Given the description of an element on the screen output the (x, y) to click on. 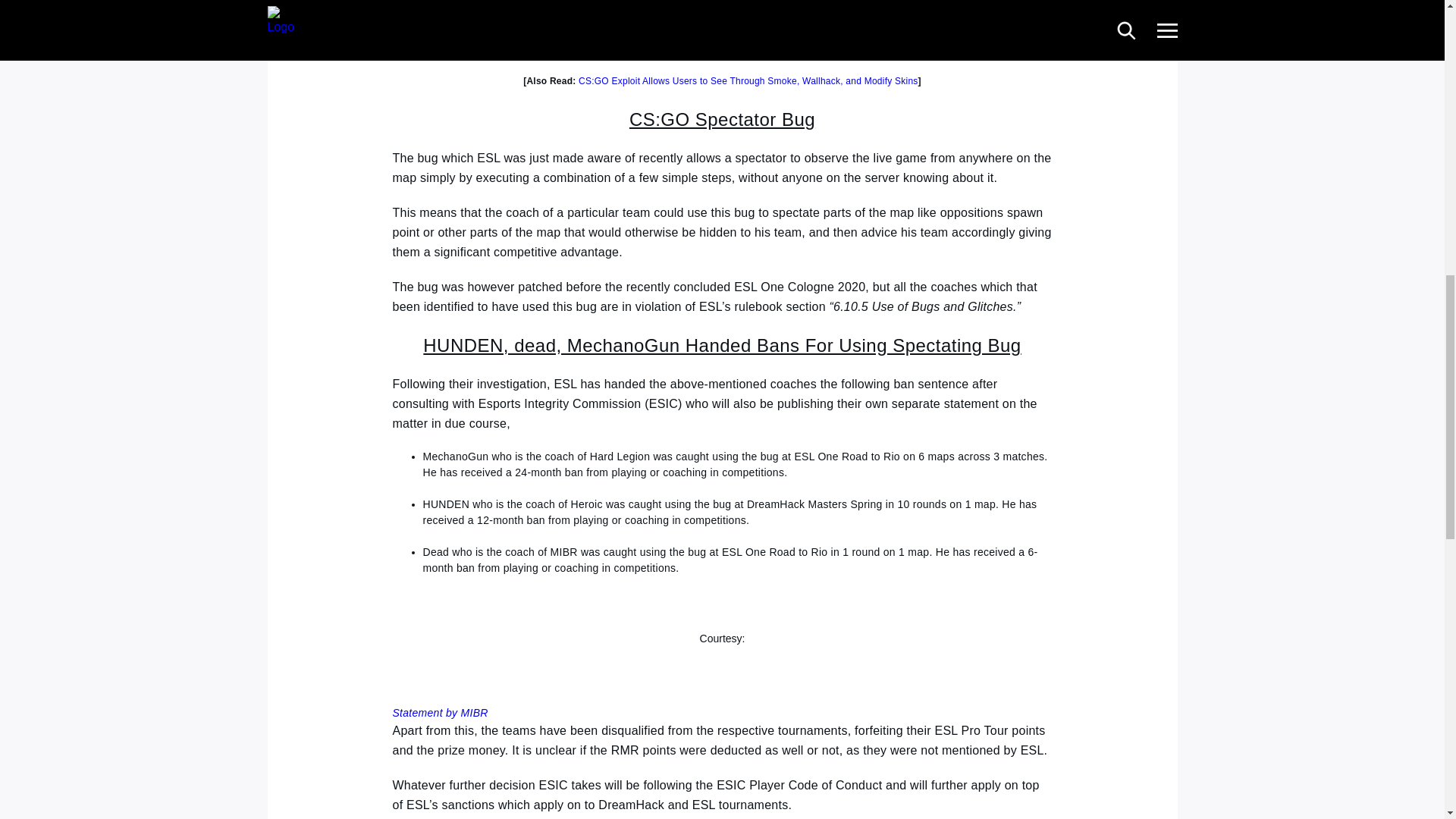
Statement by MIBR (440, 712)
